Given the description of an element on the screen output the (x, y) to click on. 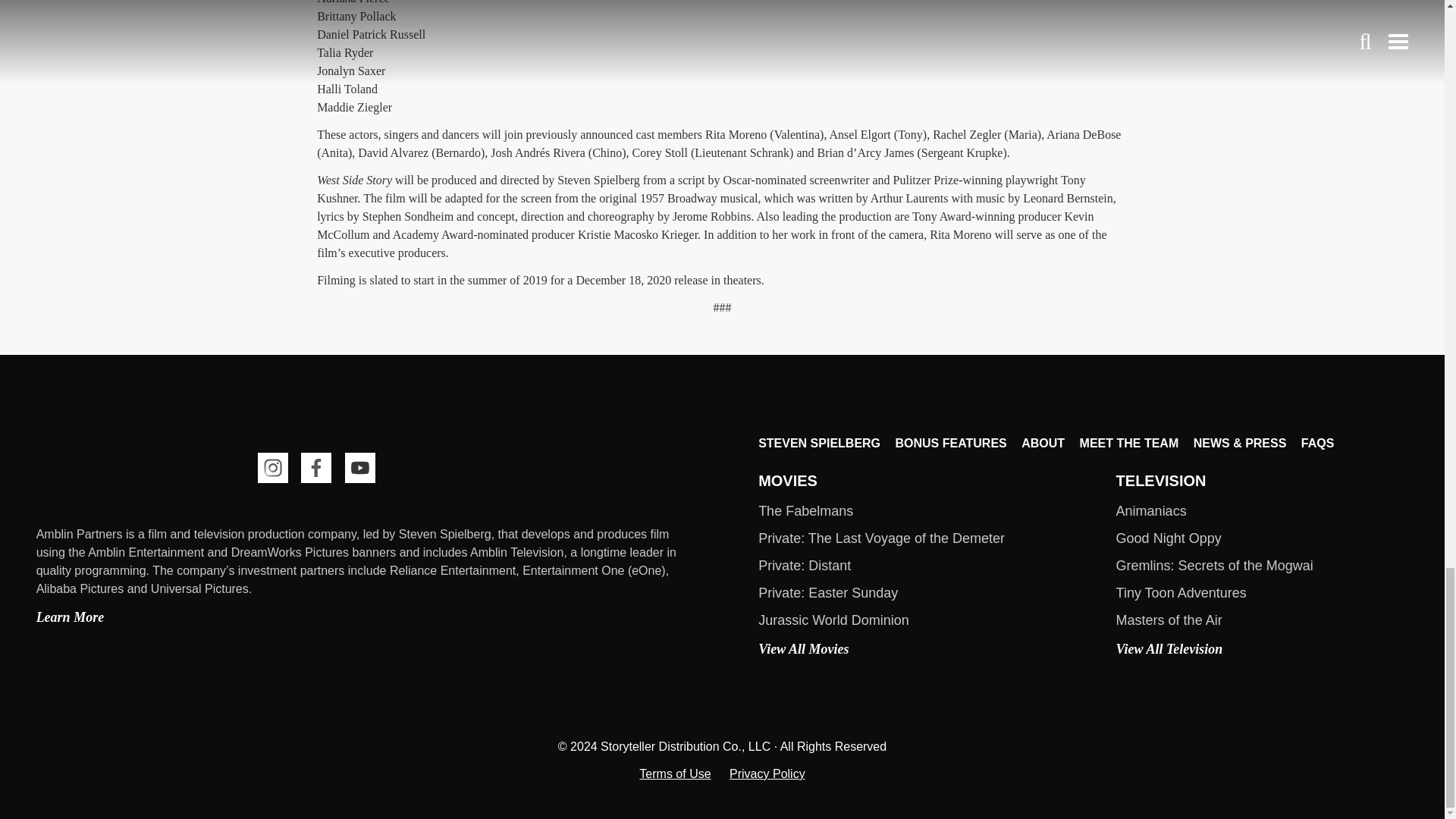
The Fabelmans (805, 510)
MEET THE TEAM (1129, 443)
FAQS (1318, 443)
BONUS FEATURES (950, 443)
STEVEN SPIELBERG (819, 443)
Amblin Entertainment (111, 470)
Learn More (70, 617)
ABOUT (1043, 443)
